Given the description of an element on the screen output the (x, y) to click on. 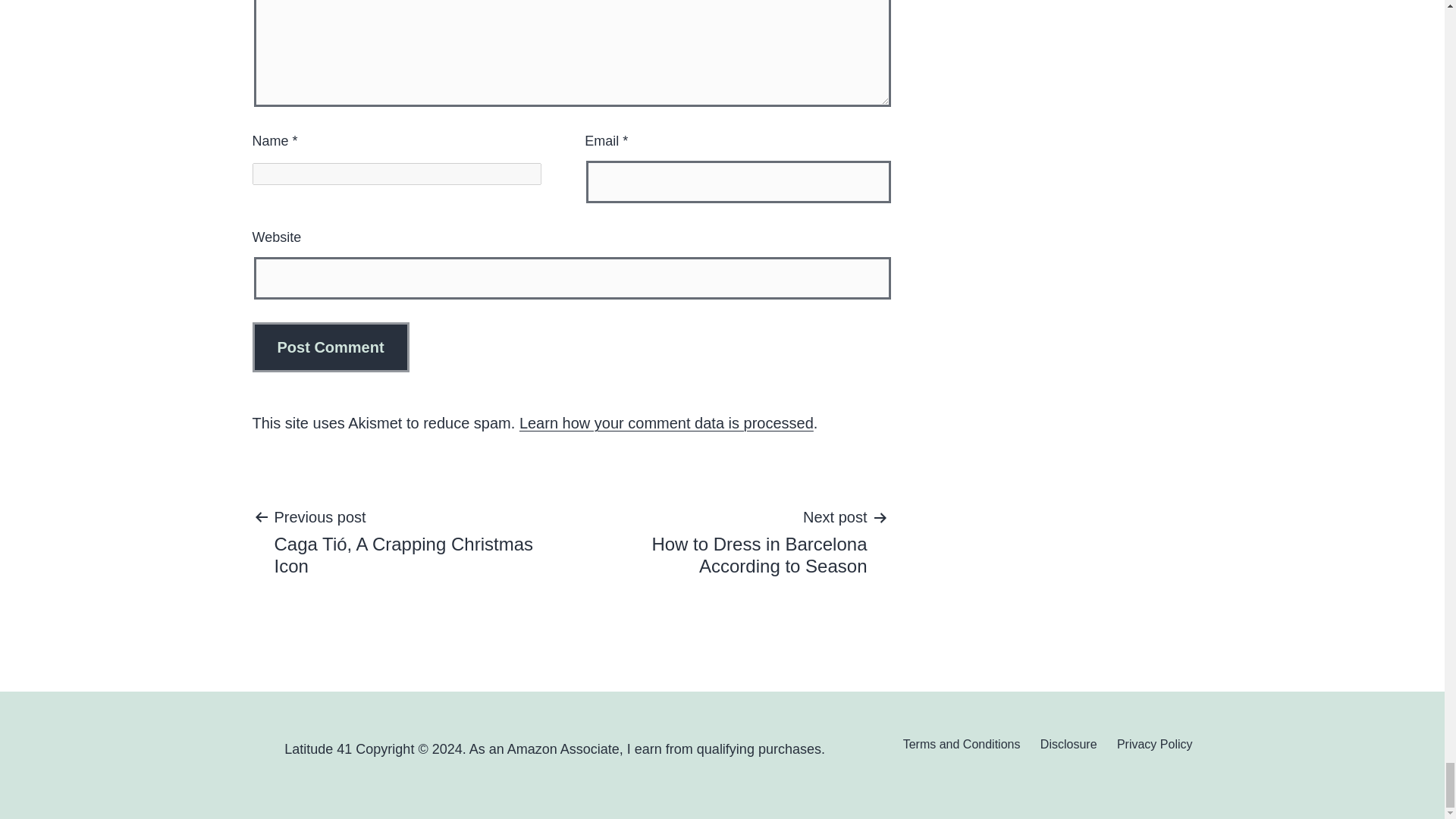
Post Comment (330, 347)
